Given the description of an element on the screen output the (x, y) to click on. 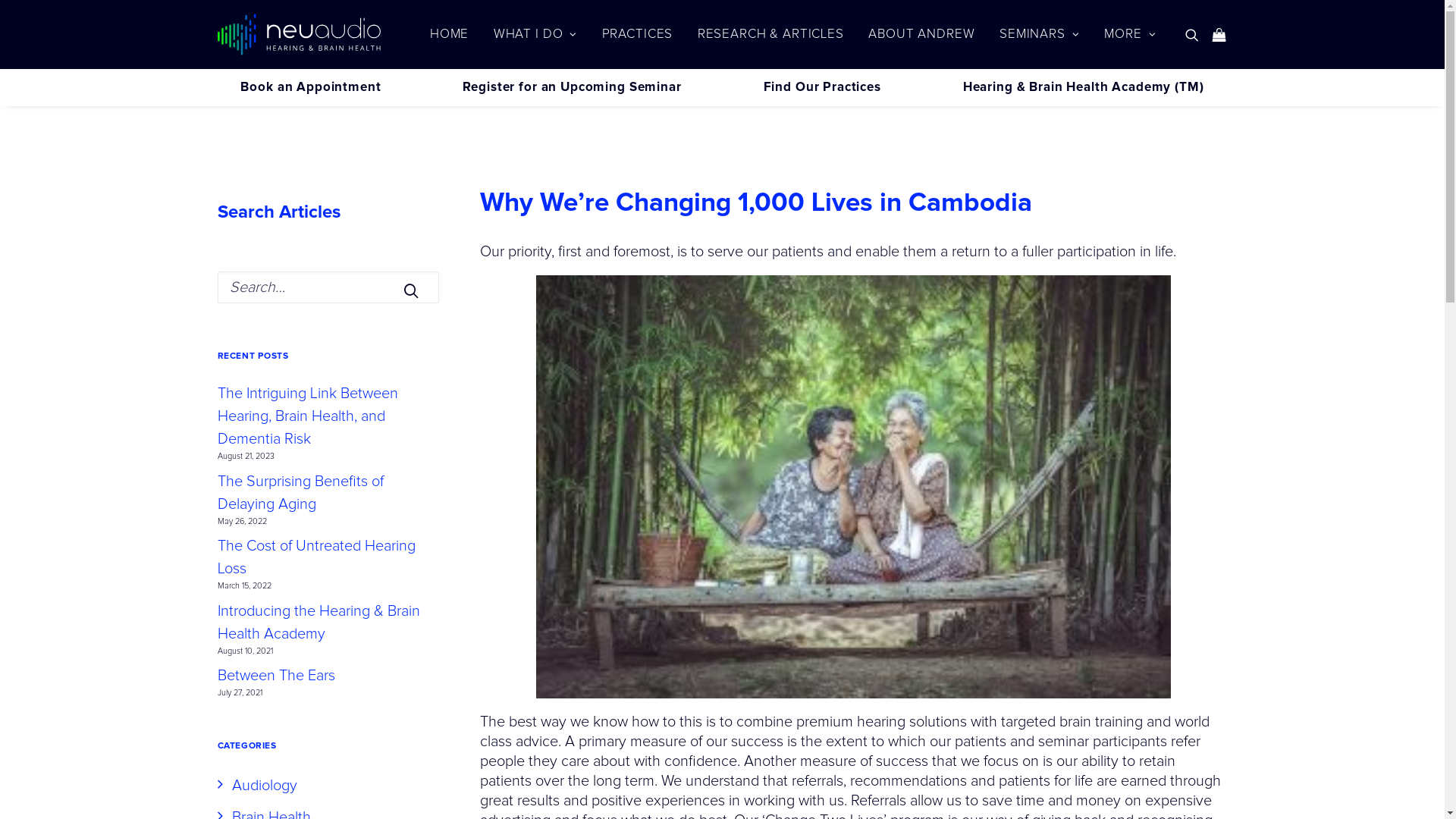
PRACTICES Element type: text (637, 34)
HOME Element type: text (449, 34)
Hearing & Brain Health Academy (TM) Element type: text (1083, 87)
Introducing the Hearing & Brain Health Academy Element type: text (327, 622)
MORE Element type: text (1124, 34)
cart Element type: hover (1216, 34)
WHAT I DO Element type: text (535, 34)
Book an Appointment Element type: text (310, 87)
The Surprising Benefits of Delaying Aging Element type: text (327, 492)
ABOUT ANDREW Element type: text (921, 34)
The Cost of Untreated Hearing Loss Element type: text (327, 557)
Search for: Element type: hover (327, 287)
Register for an Upcoming Seminar Element type: text (571, 87)
SEMINARS Element type: text (1039, 34)
Audiology Element type: text (256, 785)
RESEARCH & ARTICLES Element type: text (770, 34)
Find Our Practices Element type: text (822, 87)
Between The Ears Element type: text (327, 675)
